Given the description of an element on the screen output the (x, y) to click on. 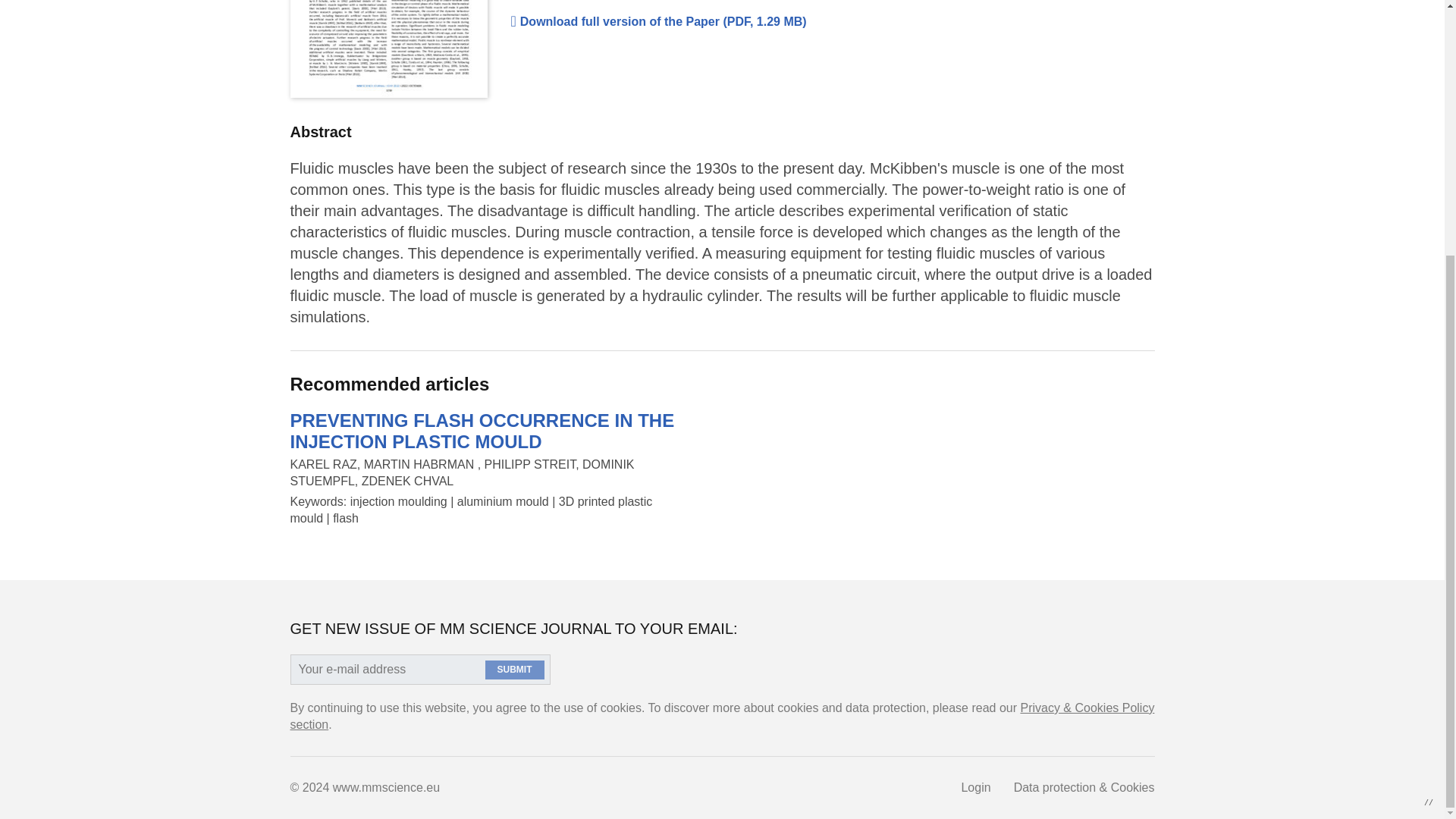
Login (975, 787)
SUBMIT (514, 669)
PREVENTING FLASH OCCURRENCE IN THE INJECTION PLASTIC MOULD (481, 431)
Login (975, 787)
